Given the description of an element on the screen output the (x, y) to click on. 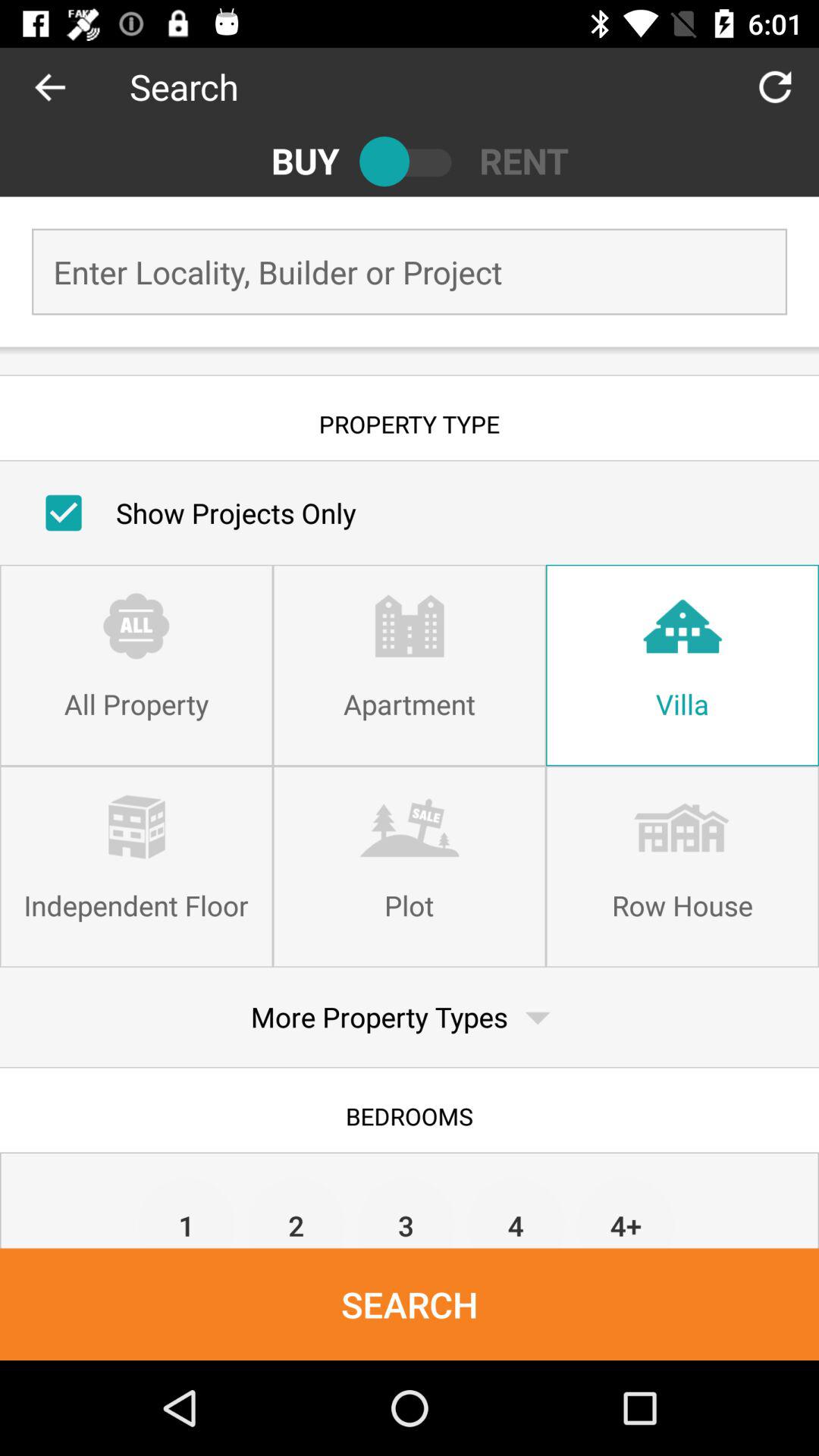
enter locality builder or project (409, 271)
